Given the description of an element on the screen output the (x, y) to click on. 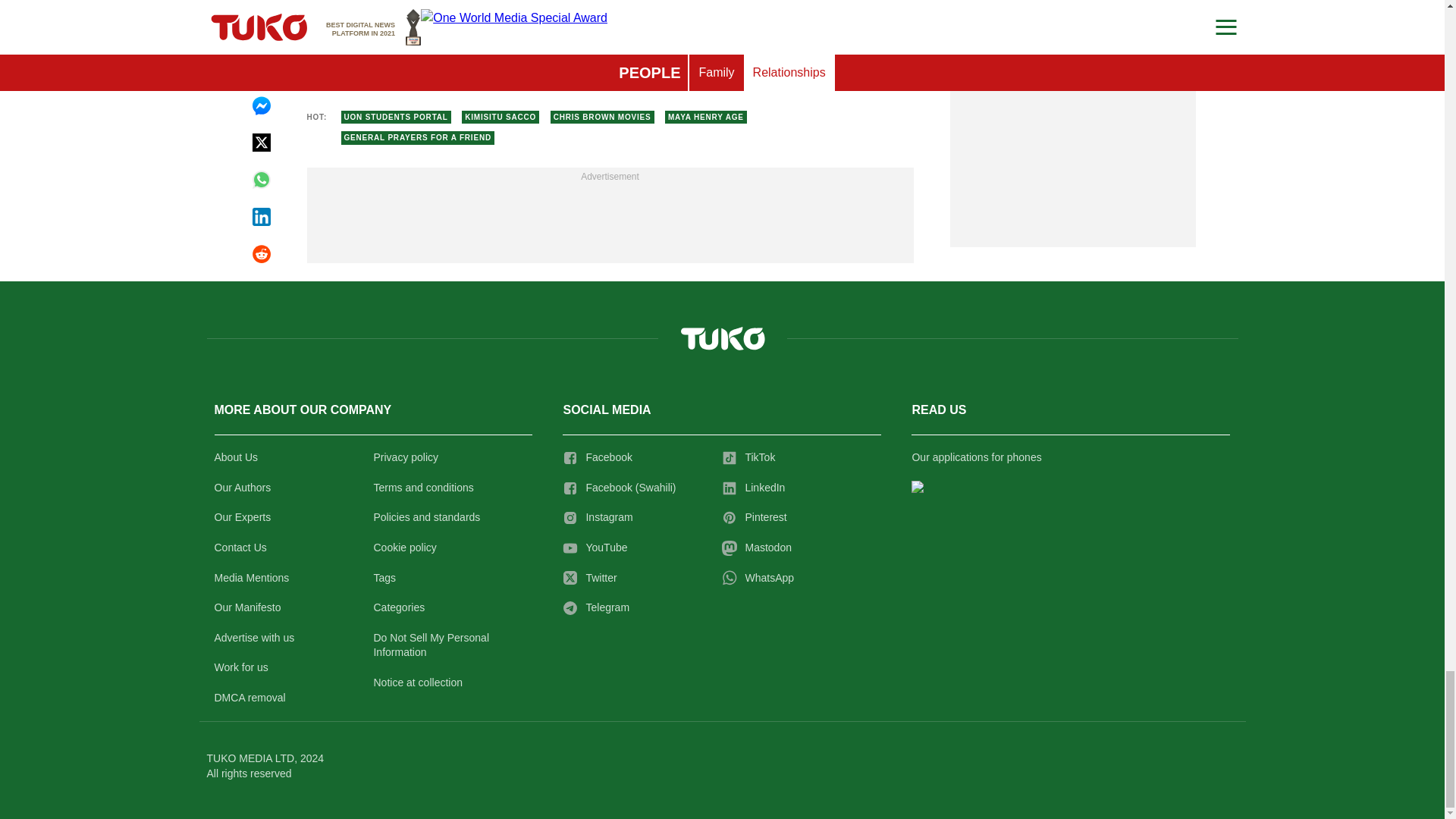
Author page (533, 31)
